Given the description of an element on the screen output the (x, y) to click on. 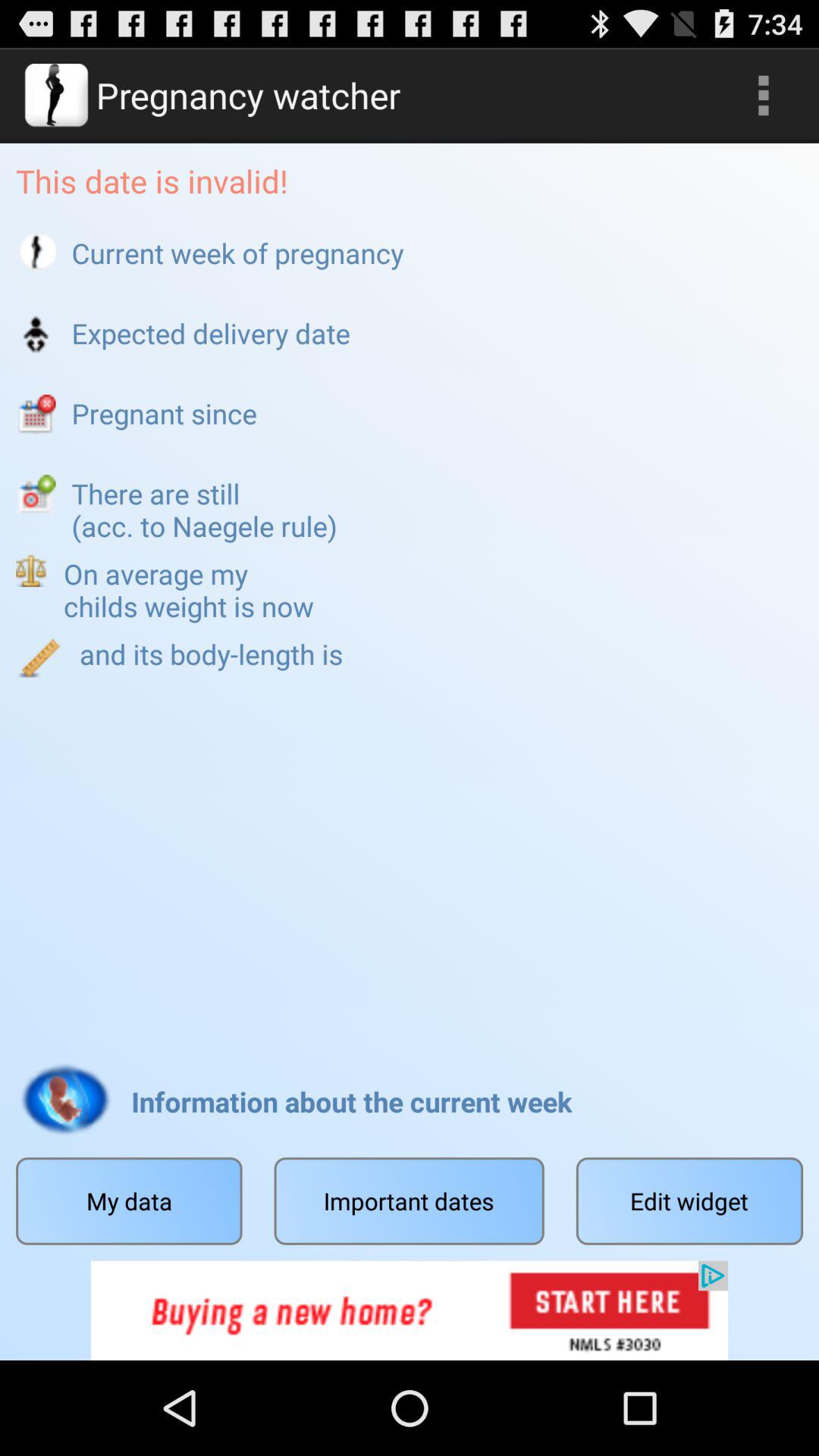
advertisement bar (409, 1310)
